Given the description of an element on the screen output the (x, y) to click on. 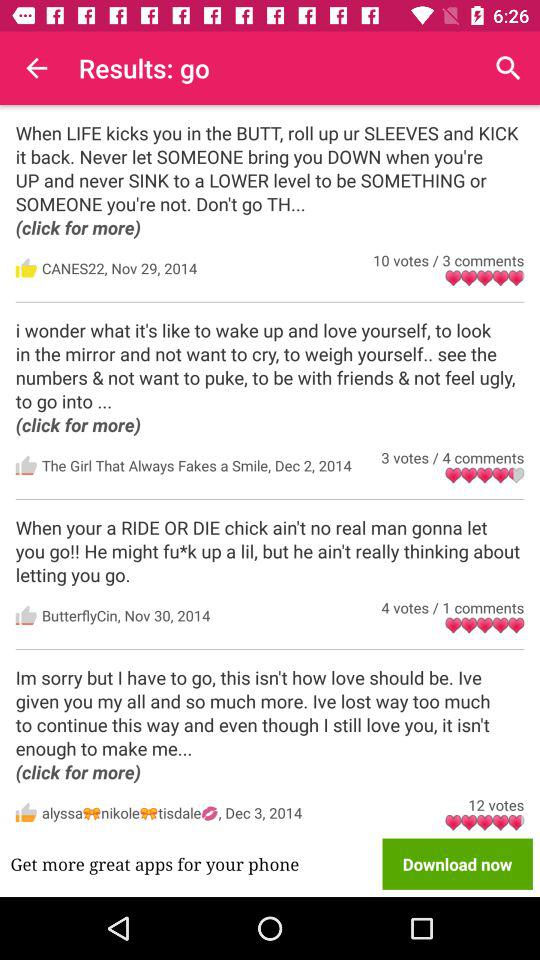
turn off item above the when life kicks item (508, 67)
